Given the description of an element on the screen output the (x, y) to click on. 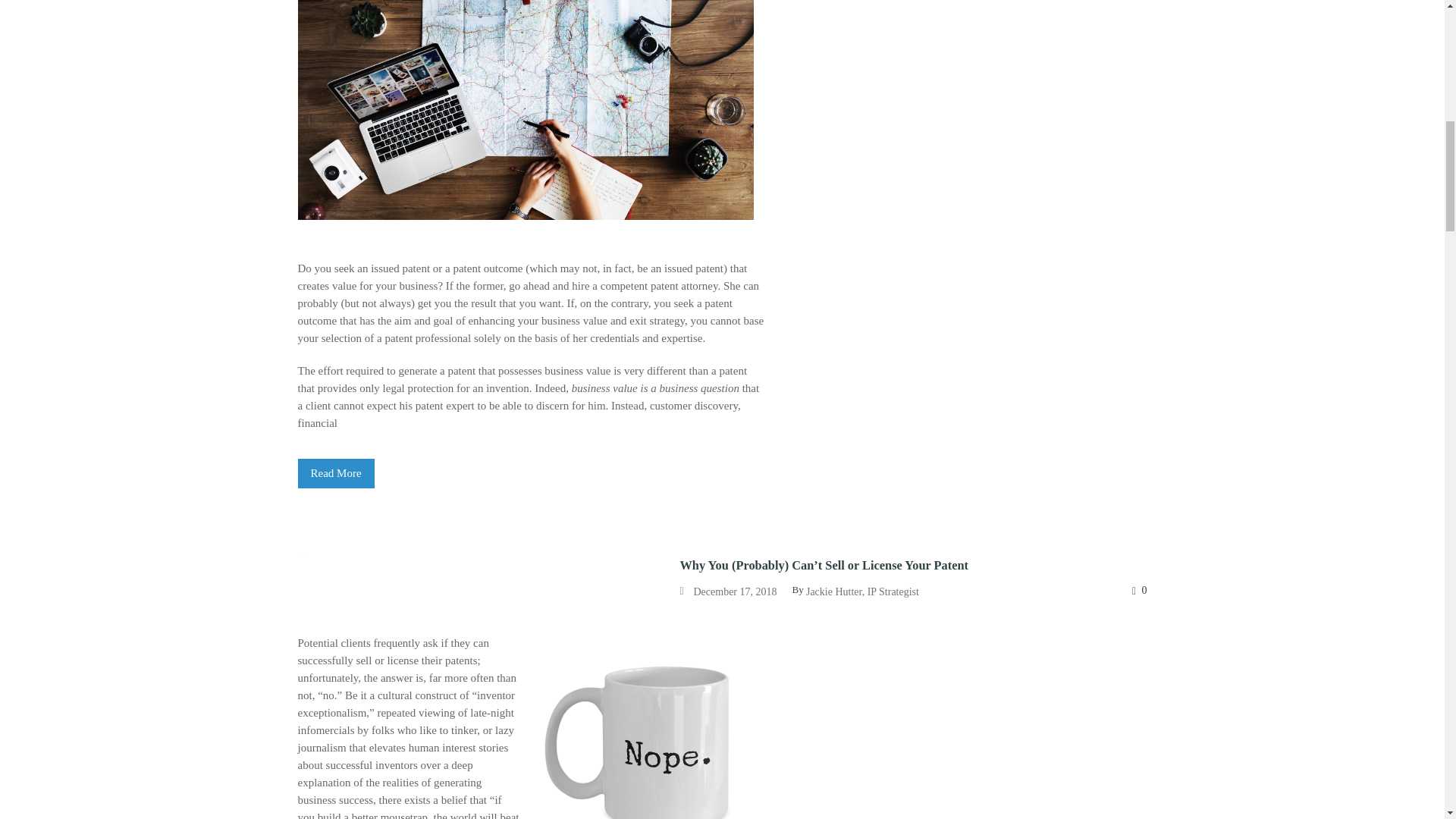
Jackie Hutter, IP Strategist (862, 591)
December 17, 2018 (734, 591)
Read More (335, 473)
Accountability as a Patent Goal (335, 473)
